Given the description of an element on the screen output the (x, y) to click on. 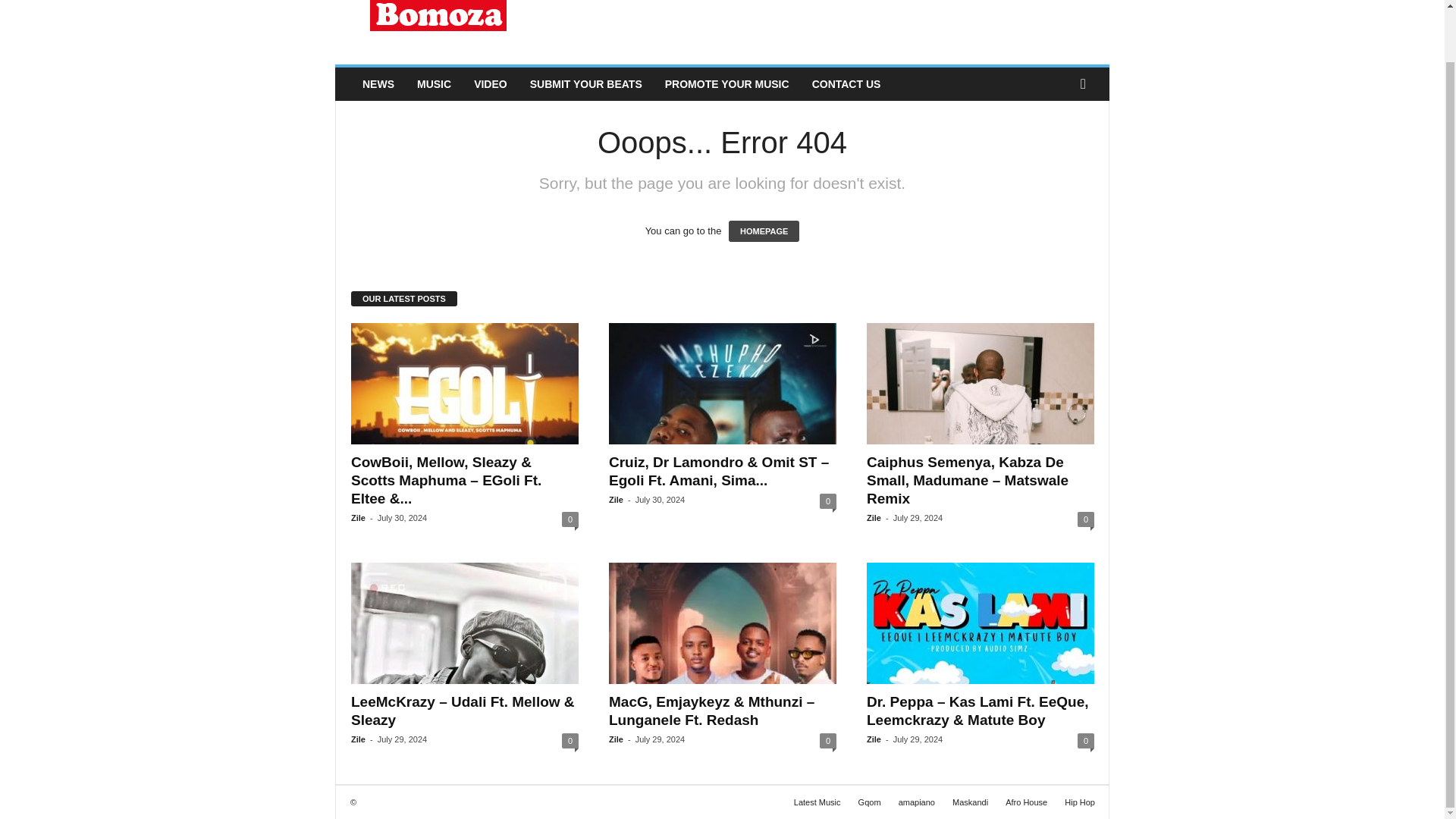
Zile (615, 499)
MUSIC (434, 83)
HOMEPAGE (764, 230)
PROMOTE YOUR MUSIC (726, 83)
CONTACT US (846, 83)
SUBMIT YOUR BEATS (585, 83)
0 (1085, 519)
Zile (357, 517)
0 (570, 740)
NEWS (378, 83)
Zile (357, 738)
Zile (873, 517)
0 (827, 500)
0 (570, 519)
VIDEO (490, 83)
